Given the description of an element on the screen output the (x, y) to click on. 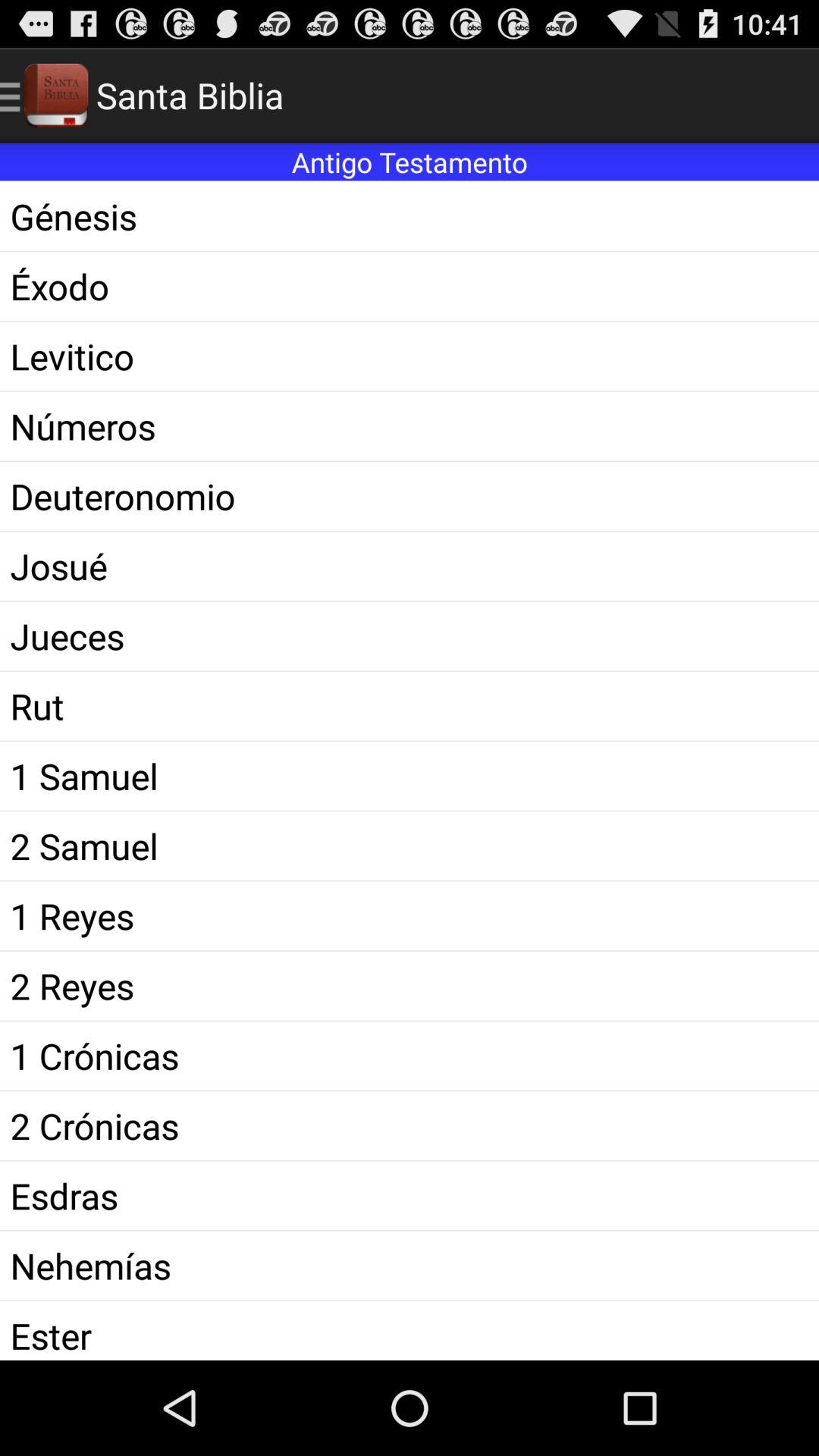
scroll until the antigo testamento app (409, 161)
